Given the description of an element on the screen output the (x, y) to click on. 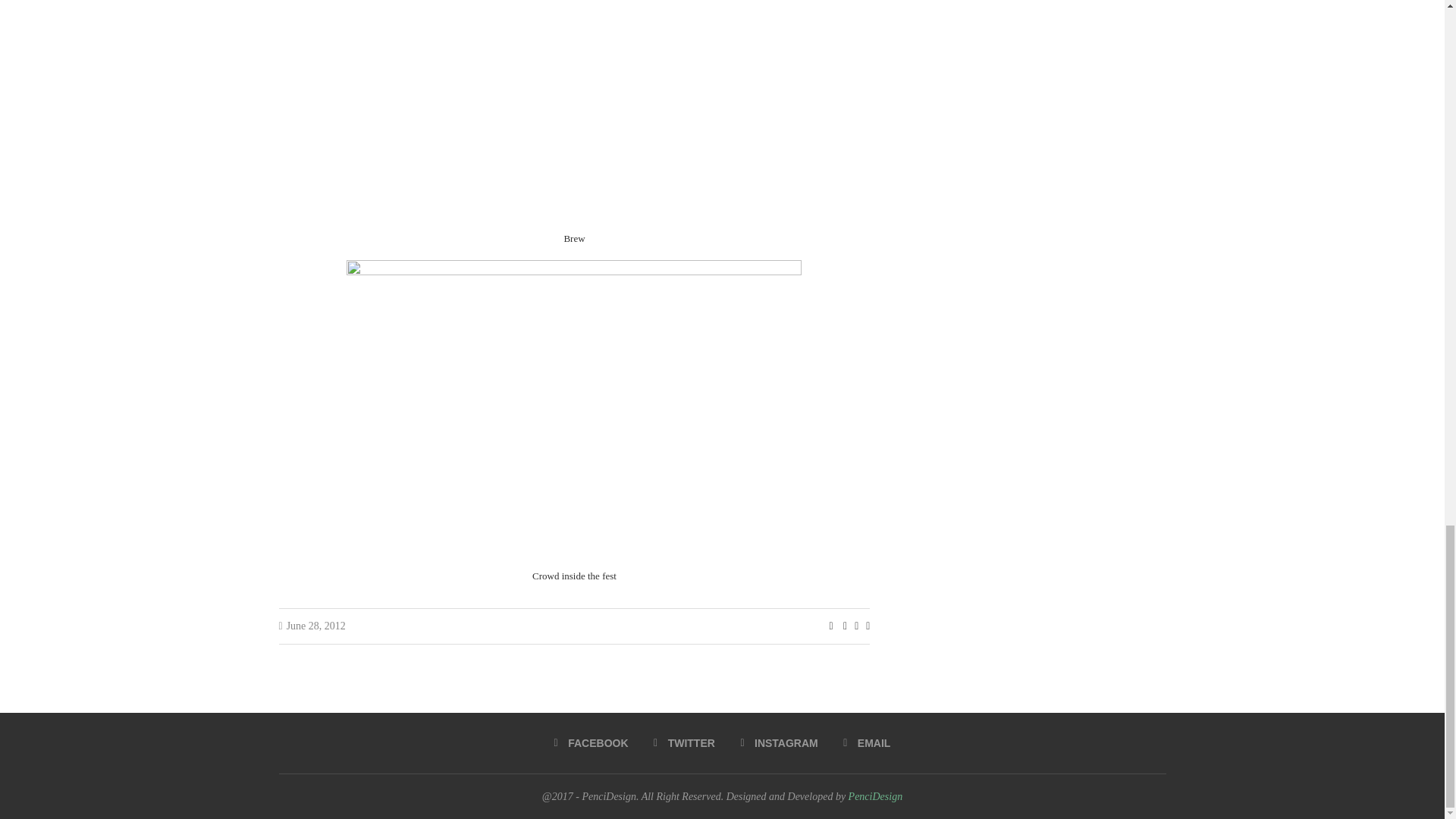
Picture 009 (574, 113)
